Given the description of an element on the screen output the (x, y) to click on. 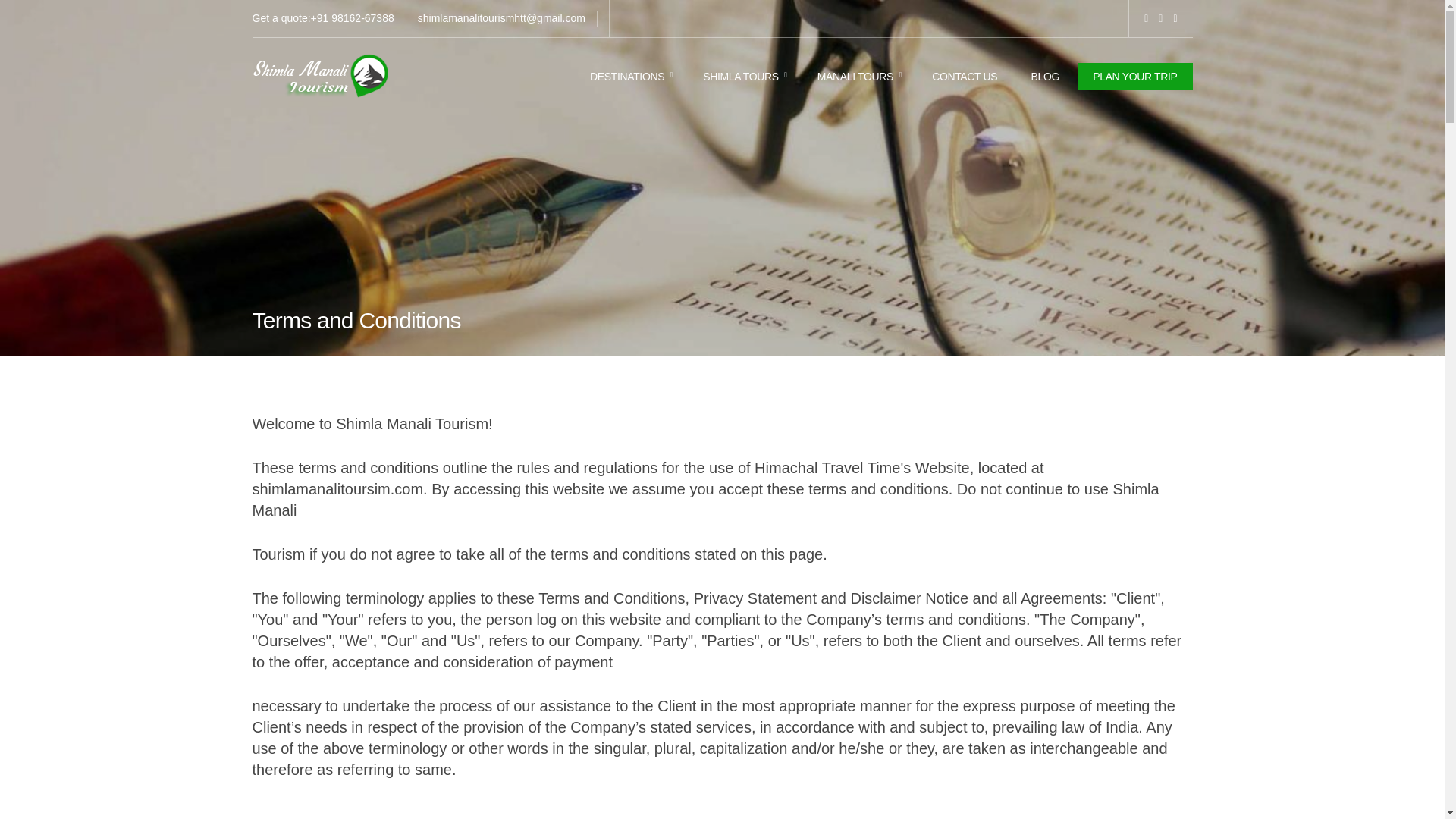
DESTINATIONS (629, 76)
Shimla Manali Tour Package (319, 76)
SHIMLA TOURS (743, 76)
